Given the description of an element on the screen output the (x, y) to click on. 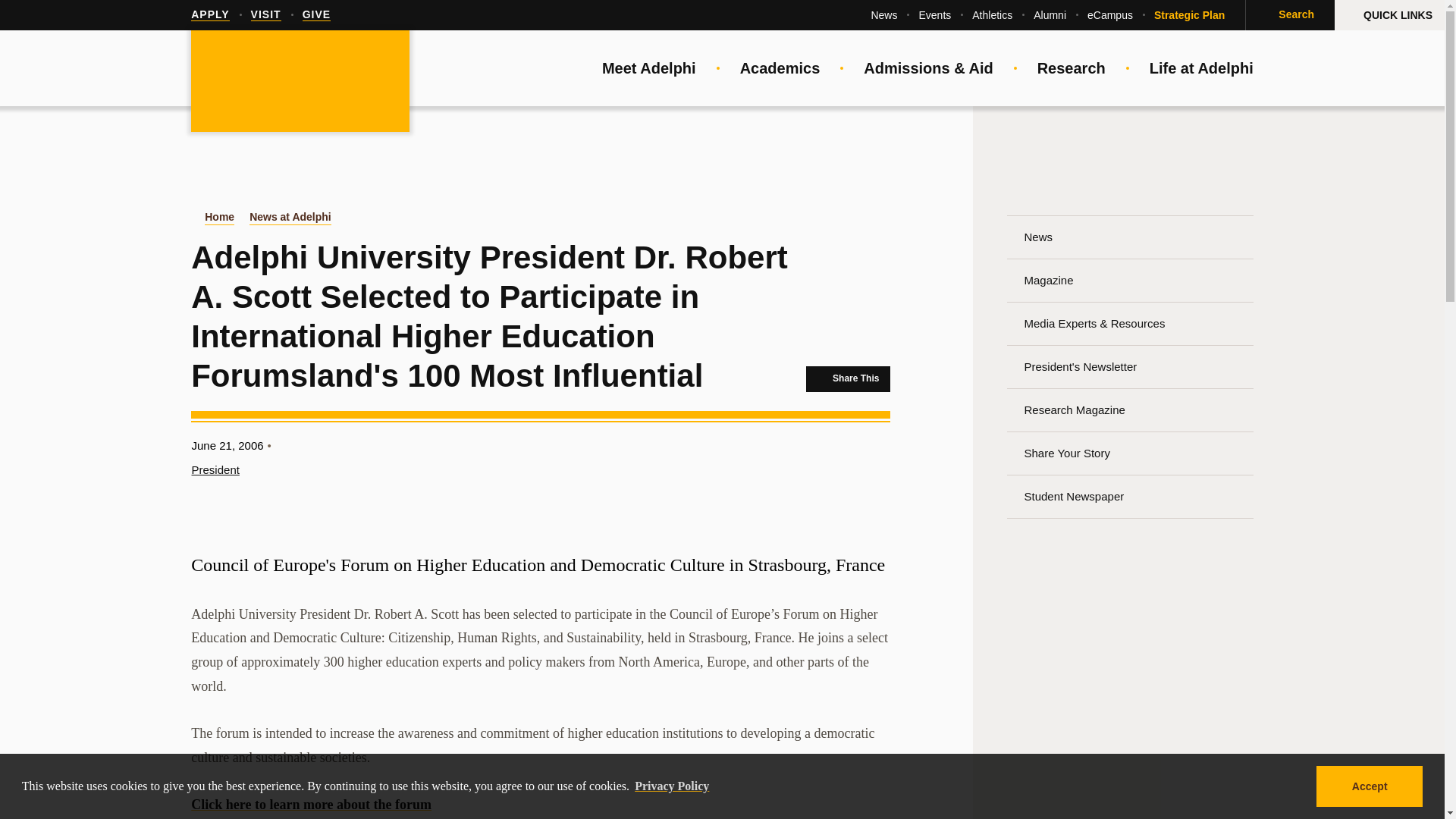
News (883, 15)
Strategic Plan (1189, 15)
Adelphi University (299, 82)
Academics (780, 68)
VISIT (265, 15)
Events (934, 15)
Search (1289, 15)
GIVE (316, 15)
eCampus (1109, 15)
Accept (1369, 785)
Privacy Policy (671, 786)
Alumni (1049, 15)
Athletics (991, 15)
Meet Adelphi (648, 68)
APPLY (209, 15)
